Given the description of an element on the screen output the (x, y) to click on. 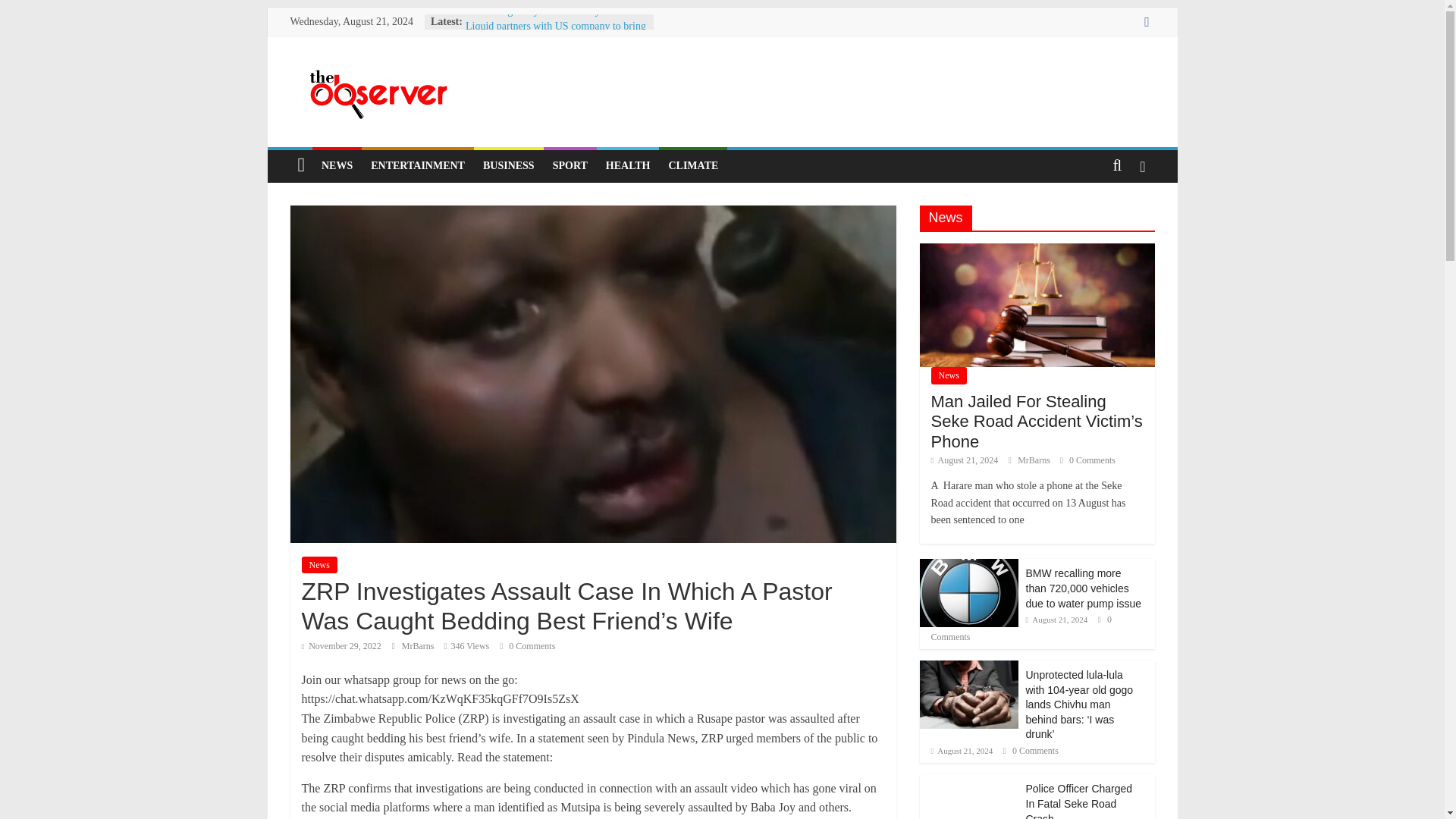
BUSINESS (508, 165)
NEWS (337, 165)
HEALTH (627, 165)
ENTERTAINMENT (417, 165)
9:05 am (341, 645)
November 29, 2022 (341, 645)
CLIMATE (692, 165)
MrBarns (418, 645)
SPORT (569, 165)
